Given the description of an element on the screen output the (x, y) to click on. 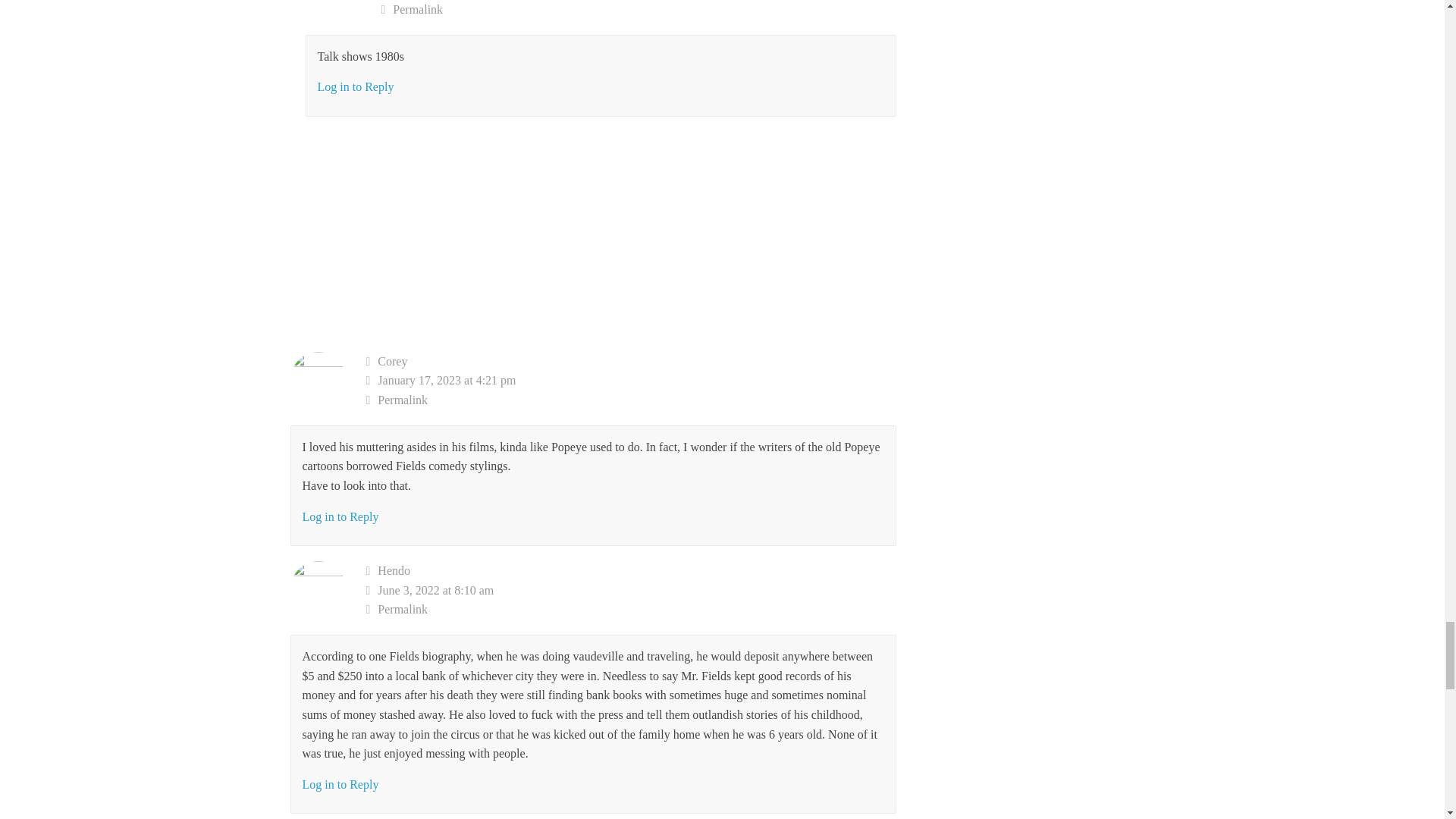
Permalink (630, 400)
Permalink (638, 9)
Permalink (630, 609)
Log in to Reply (355, 86)
Log in to Reply (339, 784)
Log in to Reply (339, 516)
